Given the description of an element on the screen output the (x, y) to click on. 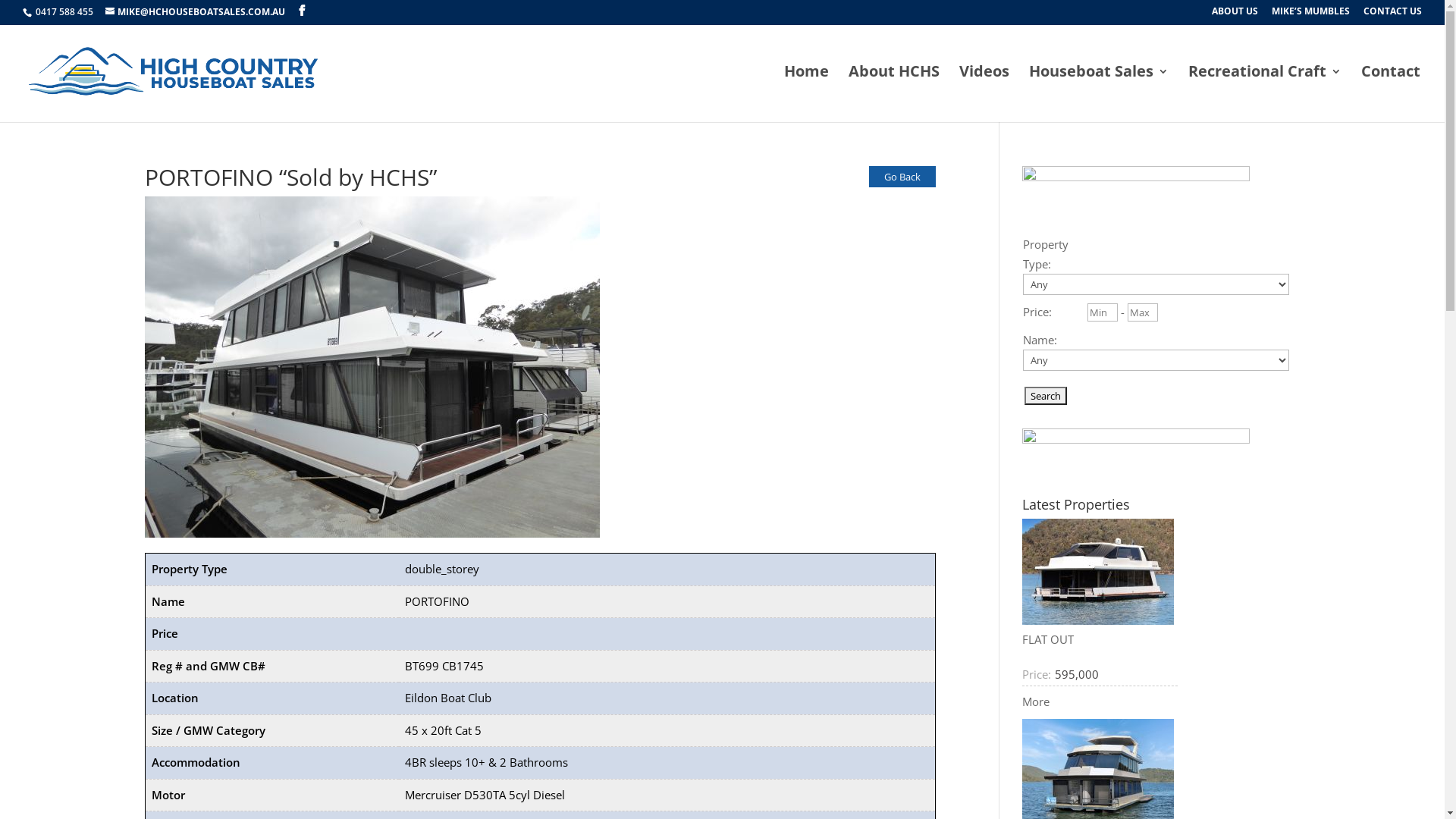
FLAT OUT Element type: text (1047, 638)
Search Element type: text (1045, 395)
Go Back Element type: text (902, 176)
Recreational Craft Element type: text (1264, 91)
About HCHS Element type: text (893, 91)
CONTACT US Element type: text (1392, 14)
Home Element type: text (806, 91)
More Element type: text (1035, 700)
Contact Element type: text (1390, 91)
Houseboat Sales Element type: text (1098, 91)
MIKE@HCHOUSEBOATSALES.COM.AU Element type: text (195, 11)
Videos Element type: text (984, 91)
ABOUT US Element type: text (1234, 14)
